Given the description of an element on the screen output the (x, y) to click on. 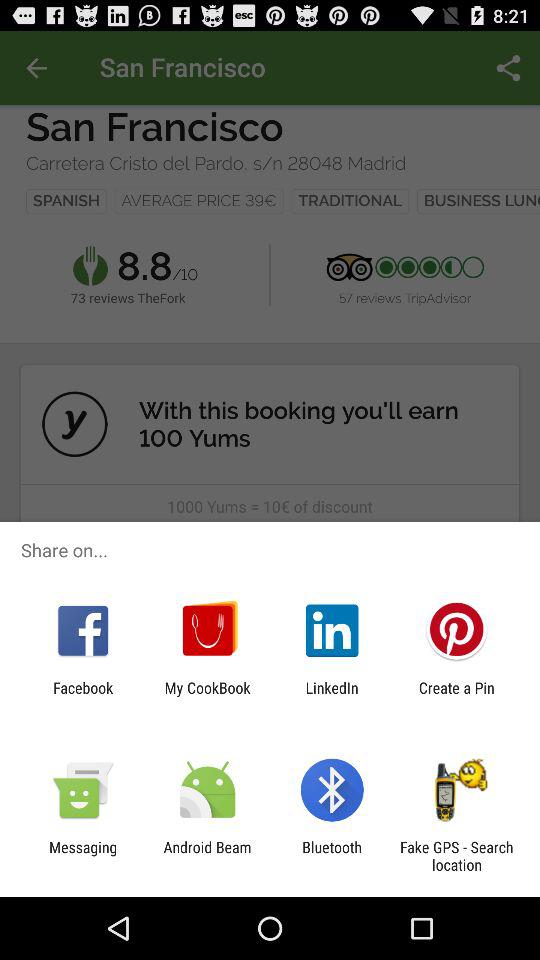
choose the my cookbook app (207, 696)
